Given the description of an element on the screen output the (x, y) to click on. 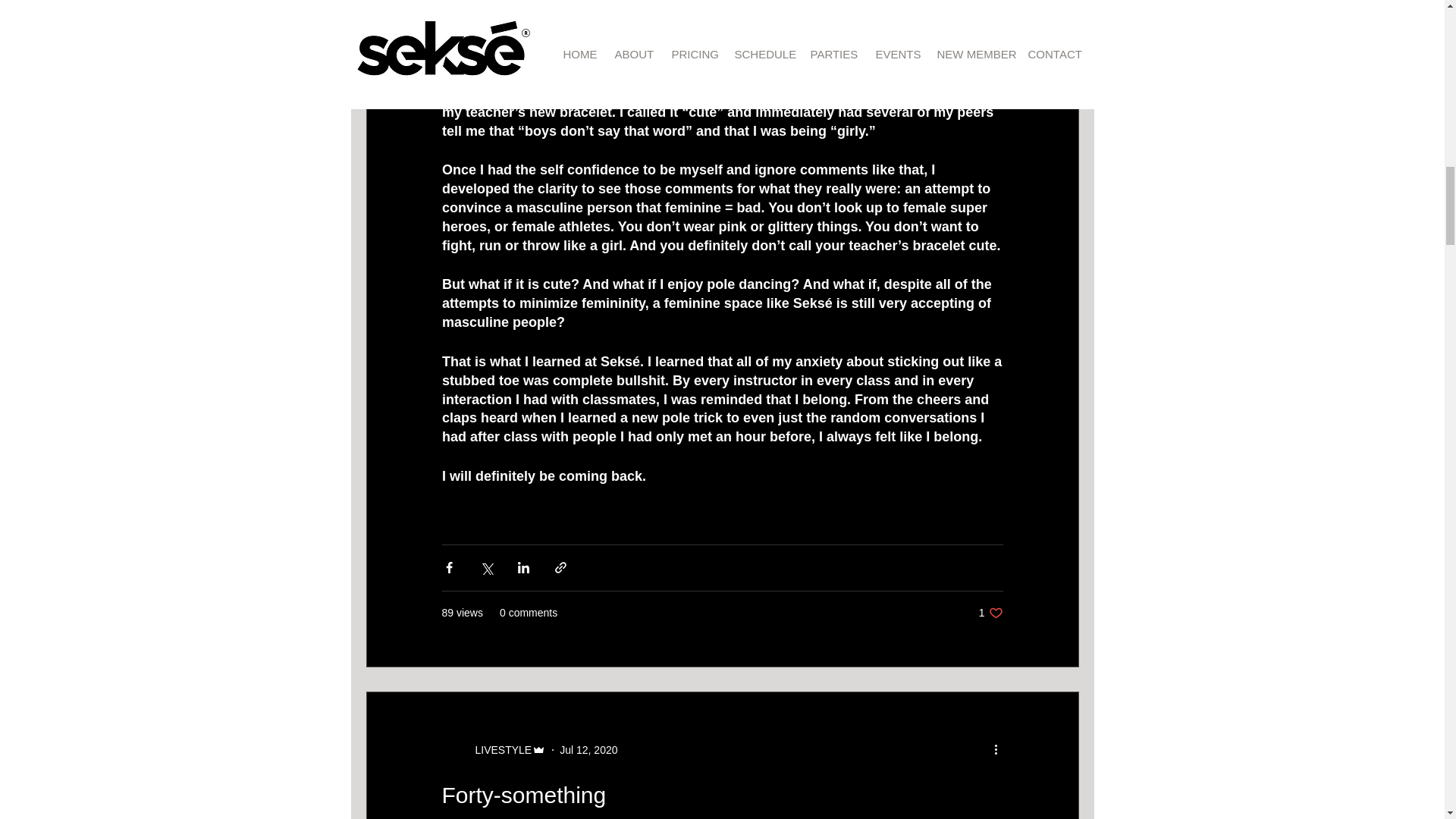
Jul 12, 2020 (588, 749)
LIVESTYLE (493, 749)
0 comments (528, 612)
Forty-something (990, 612)
LIVESTYLE (523, 794)
